Given the description of an element on the screen output the (x, y) to click on. 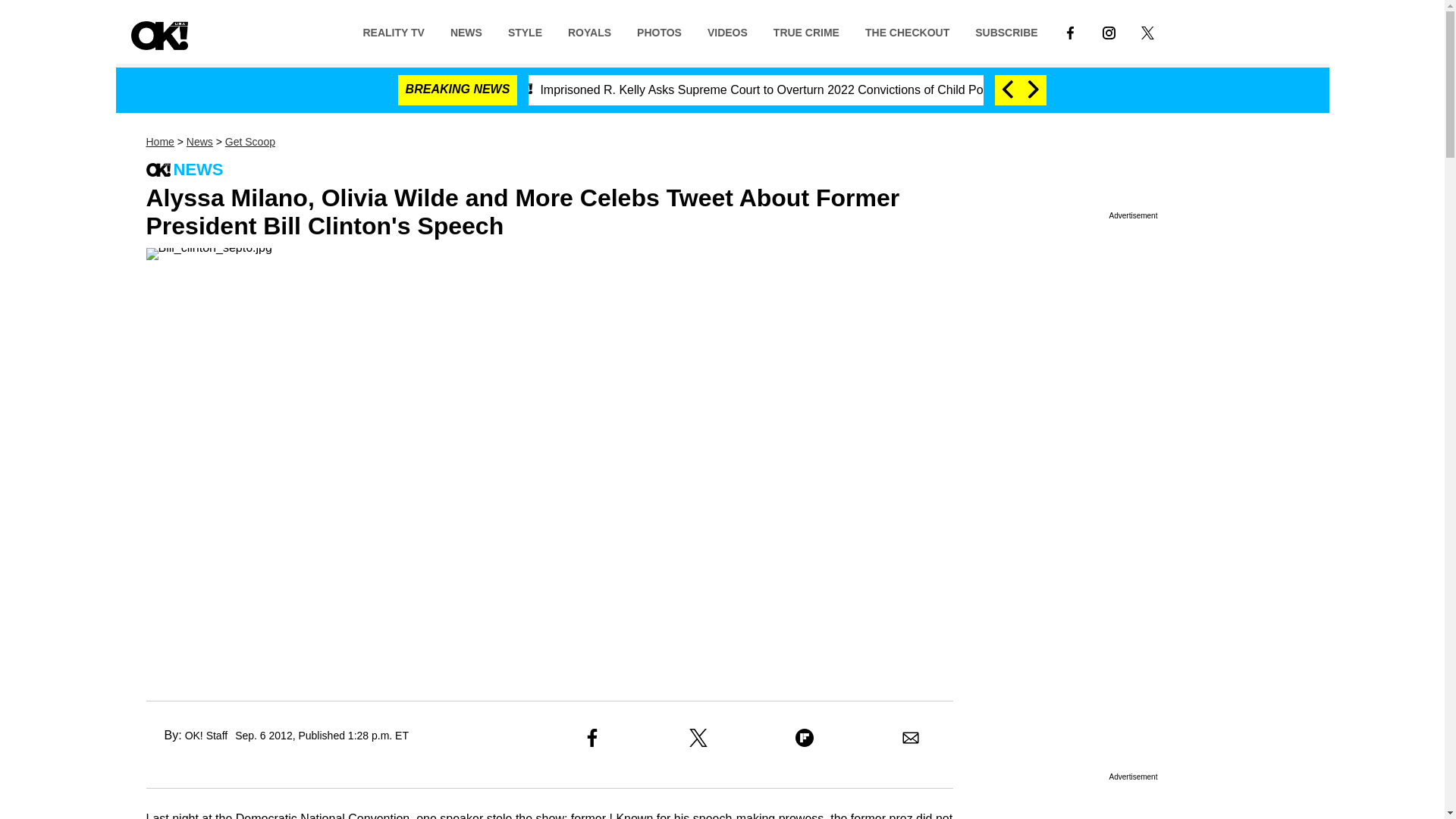
News (199, 141)
LINK TO X (1147, 31)
Home (159, 141)
Share to X (697, 737)
OK! Staff (206, 735)
Share to Email (909, 737)
SUBSCRIBE (1005, 31)
Link to X (1147, 31)
REALITY TV (392, 31)
LINK TO INSTAGRAM (1108, 31)
Link to Instagram (1108, 31)
ROYALS (589, 31)
STYLE (524, 31)
LINK TO X (1147, 32)
Get Scoop (250, 141)
